Given the description of an element on the screen output the (x, y) to click on. 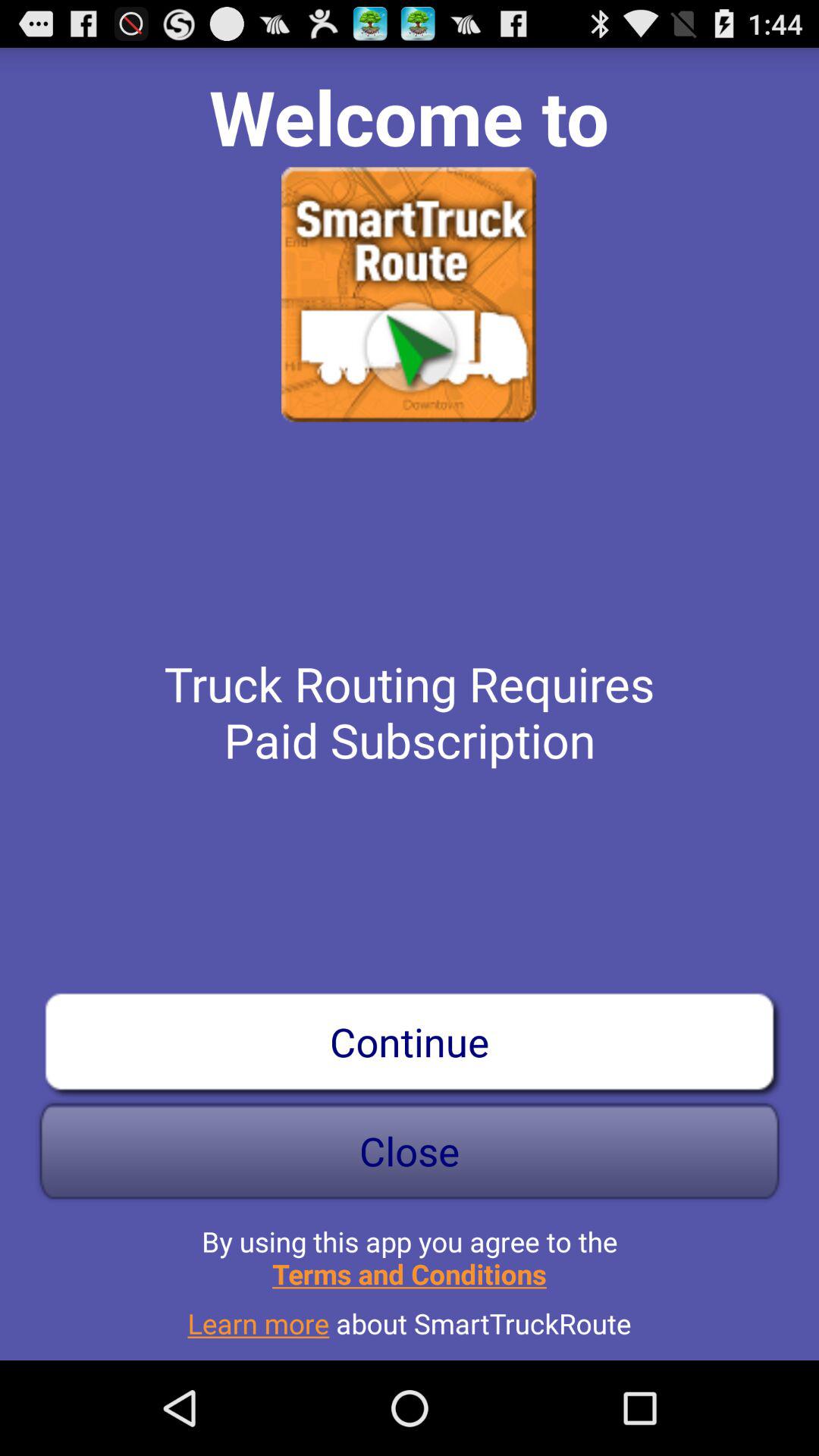
turn on the close icon (409, 1150)
